Given the description of an element on the screen output the (x, y) to click on. 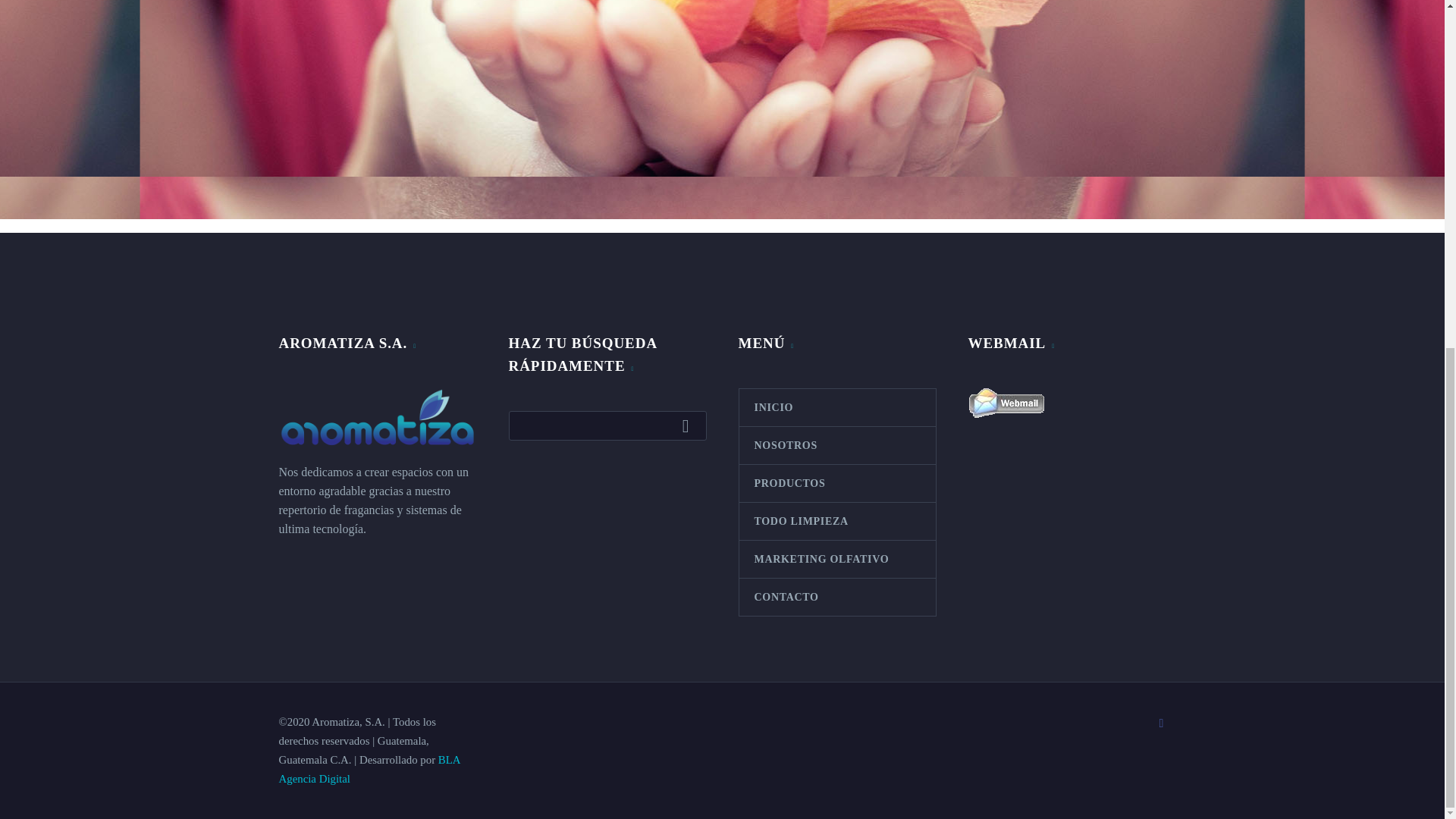
MARKETING OLFATIVO (836, 559)
CONTACTO (836, 596)
BLA Agencia Digital (369, 768)
PRODUCTOS (836, 483)
NOSOTROS (836, 445)
BUSCAR (689, 425)
TODO LIMPIEZA (836, 520)
Facebook (1161, 723)
INICIO (836, 407)
